Given the description of an element on the screen output the (x, y) to click on. 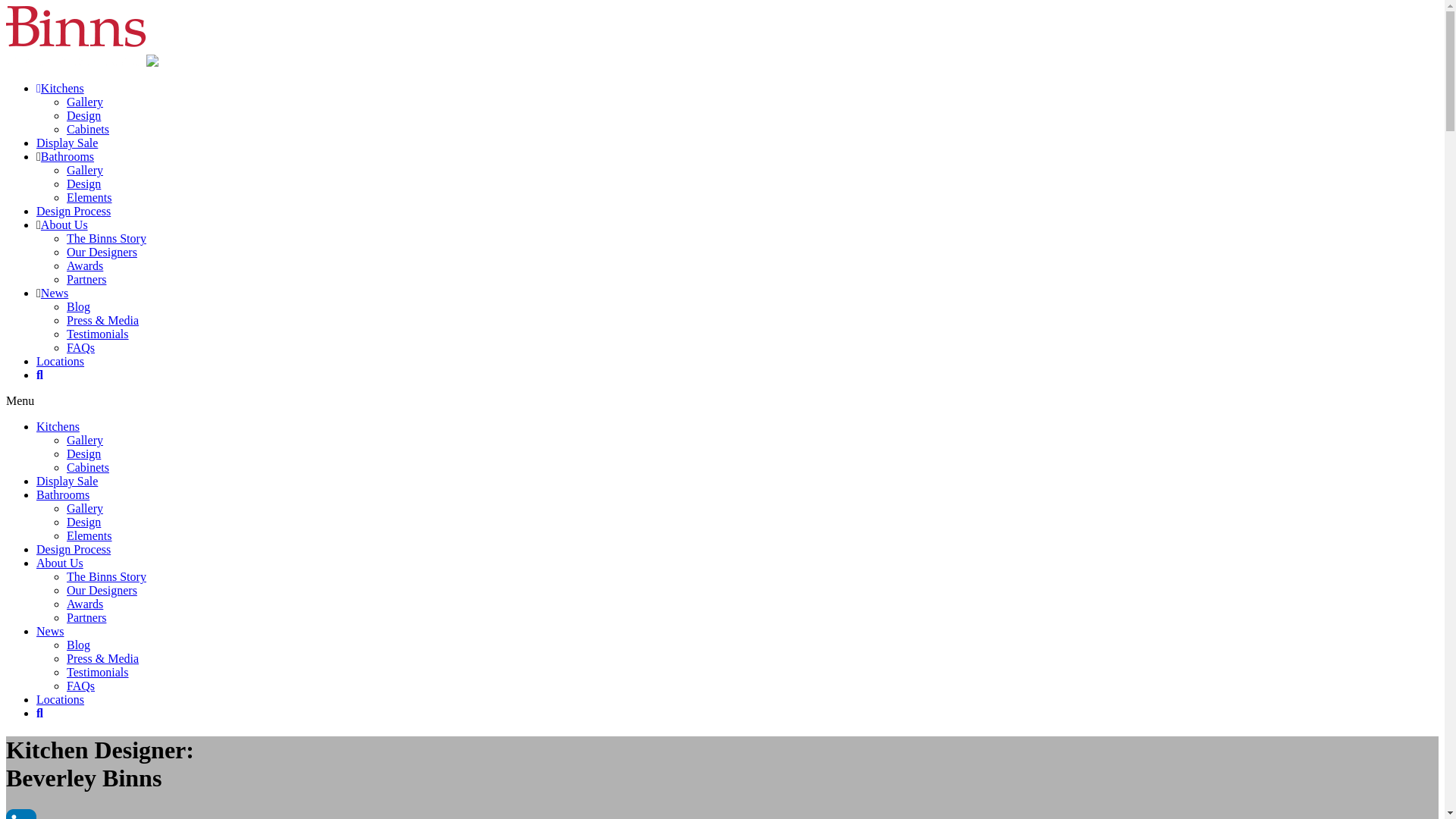
Design Element type: text (83, 115)
Cabinets Element type: text (87, 467)
FAQs Element type: text (80, 347)
Elements Element type: text (89, 535)
Gallery Element type: text (84, 101)
News Element type: text (49, 630)
Locations Element type: text (60, 360)
Blog Element type: text (78, 644)
Our Designers Element type: text (101, 589)
Testimonials Element type: text (97, 671)
FAQs Element type: text (80, 685)
Locations Element type: text (60, 699)
Press & Media Element type: text (102, 319)
Design Element type: text (83, 183)
Design Process Element type: text (73, 210)
Partners Element type: text (86, 617)
Display Sale Element type: text (66, 480)
Gallery Element type: text (84, 169)
Cabinets Element type: text (87, 128)
Elements Element type: text (89, 197)
Awards Element type: text (84, 603)
Bathrooms Element type: text (67, 156)
Gallery Element type: text (84, 439)
Partners Element type: text (86, 279)
Display Sale Element type: text (66, 142)
Gallery Element type: text (84, 508)
Design Element type: text (83, 453)
Bathrooms Element type: text (62, 494)
About Us Element type: text (59, 562)
Menu Element type: text (20, 400)
News Element type: text (54, 292)
The Binns Story Element type: text (106, 238)
Kitchens Element type: text (57, 426)
Design Process Element type: text (73, 548)
About Us Element type: text (63, 224)
The Binns Story Element type: text (106, 576)
Press & Media Element type: text (102, 658)
Testimonials Element type: text (97, 333)
Blog Element type: text (78, 306)
Our Designers Element type: text (101, 251)
Design Element type: text (83, 521)
Kitchens Element type: text (62, 87)
Awards Element type: text (84, 265)
